Given the description of an element on the screen output the (x, y) to click on. 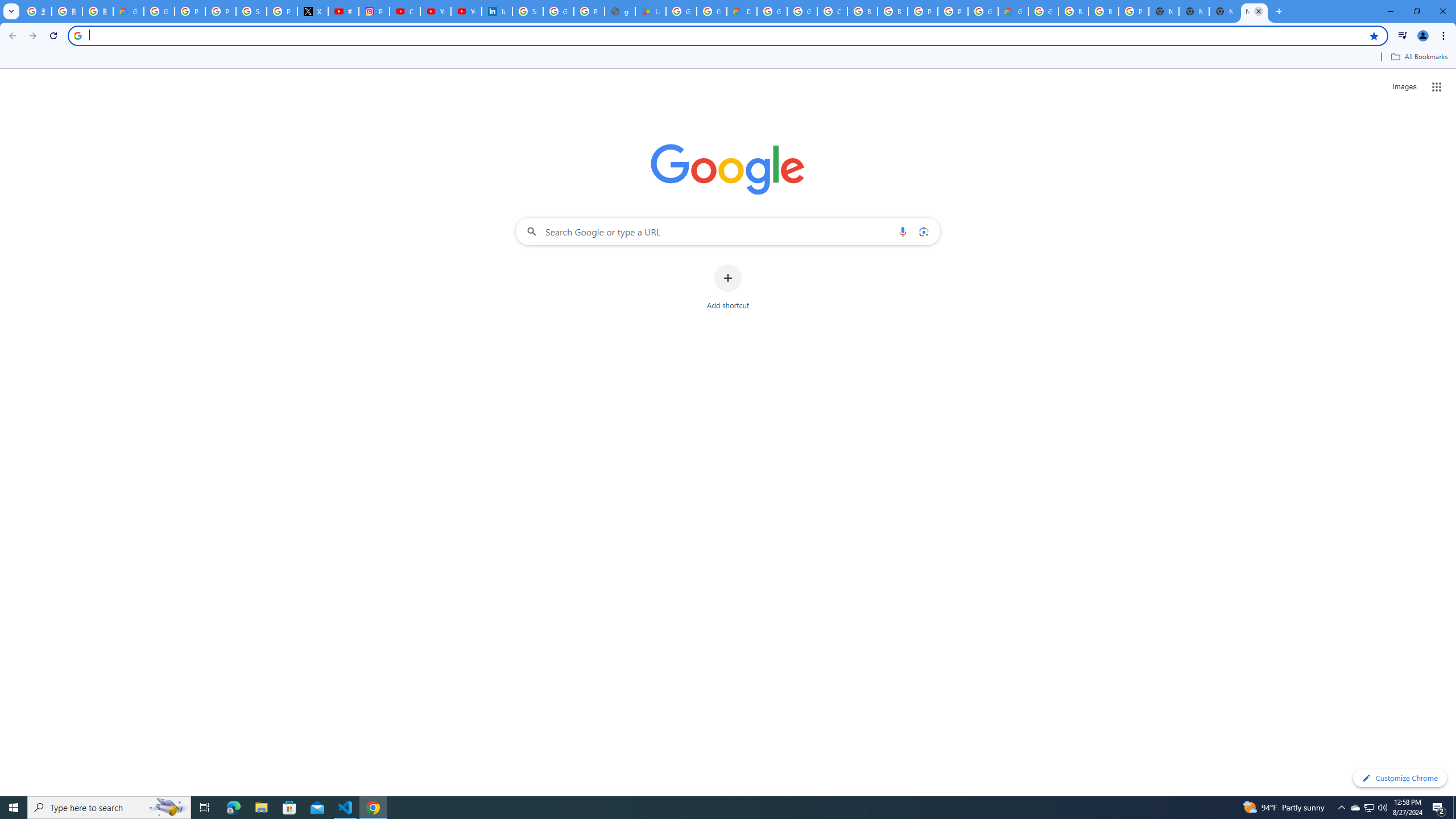
Google Cloud Platform (1042, 11)
Bookmarks (728, 58)
Browse Chrome as a guest - Computer - Google Chrome Help (862, 11)
New Tab (1163, 11)
YouTube Culture & Trends - YouTube Top 10, 2021 (465, 11)
Last Shelter: Survival - Apps on Google Play (650, 11)
